Given the description of an element on the screen output the (x, y) to click on. 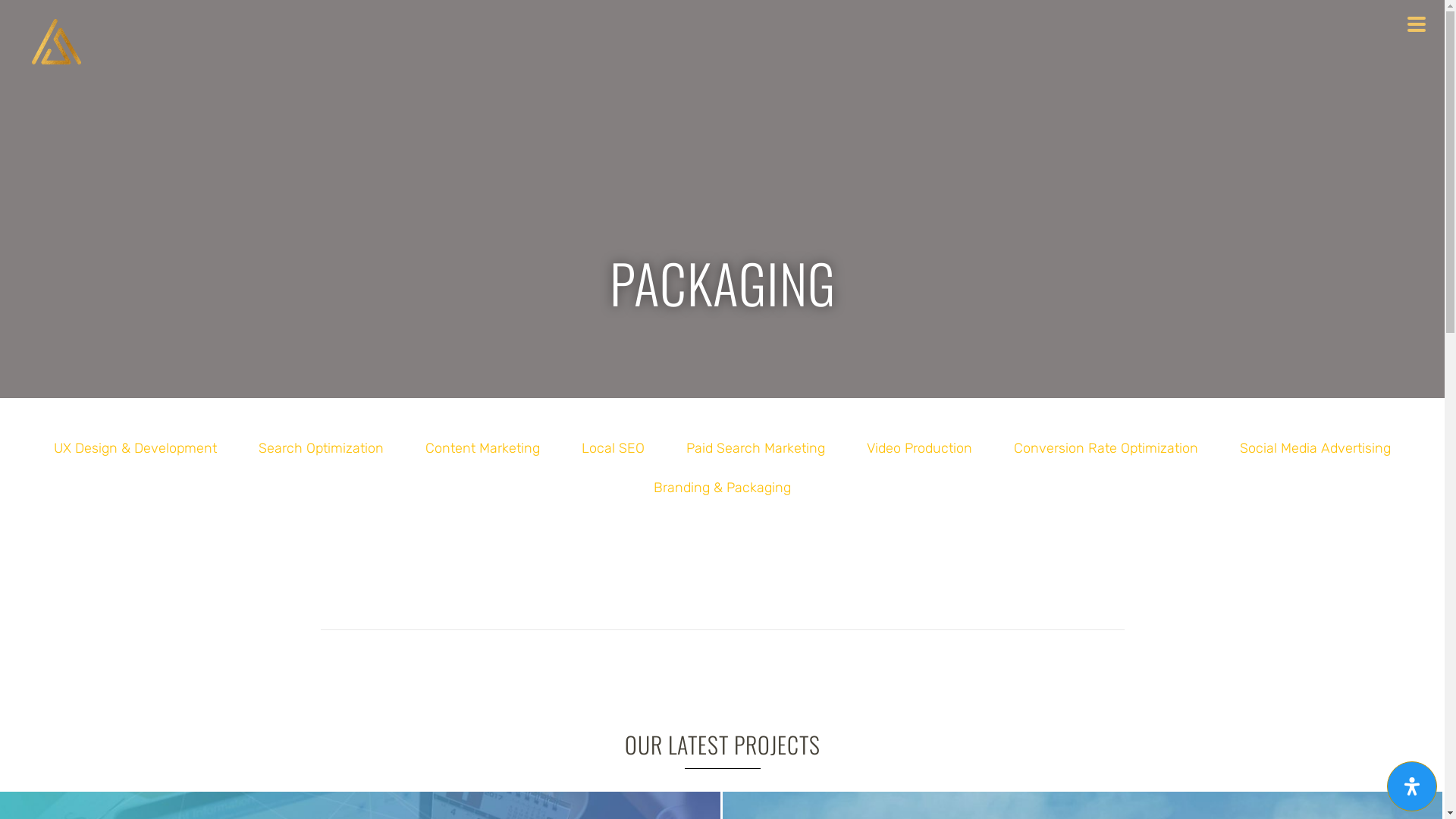
Local SEO Element type: text (612, 447)
15n-icon-sm Element type: hover (56, 41)
Social Media Advertising Element type: text (1315, 447)
Search Optimization Element type: text (321, 447)
Video Production Element type: text (919, 447)
Branding & Packaging Element type: text (722, 487)
Paid Search Marketing Element type: text (755, 447)
Conversion Rate Optimization Element type: text (1105, 447)
Content Marketing Element type: text (482, 447)
UX Design & Development Element type: text (135, 447)
